Given the description of an element on the screen output the (x, y) to click on. 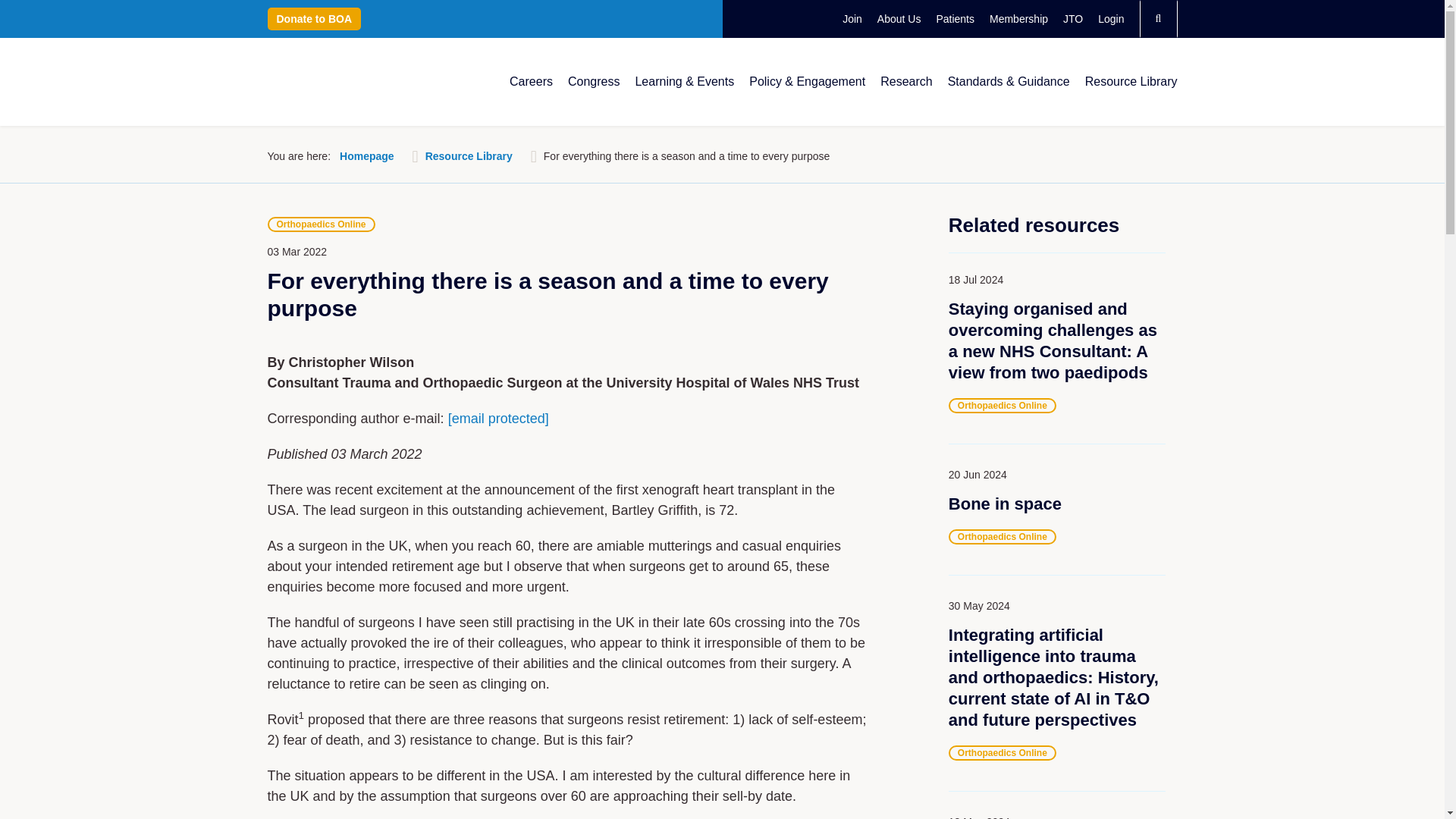
Membership (1019, 18)
Login (1110, 18)
Donate now (313, 18)
Donate to BOA (313, 18)
Careers (531, 81)
Patients (955, 18)
About Us (899, 18)
JTO (1072, 18)
Join (852, 18)
